Given the description of an element on the screen output the (x, y) to click on. 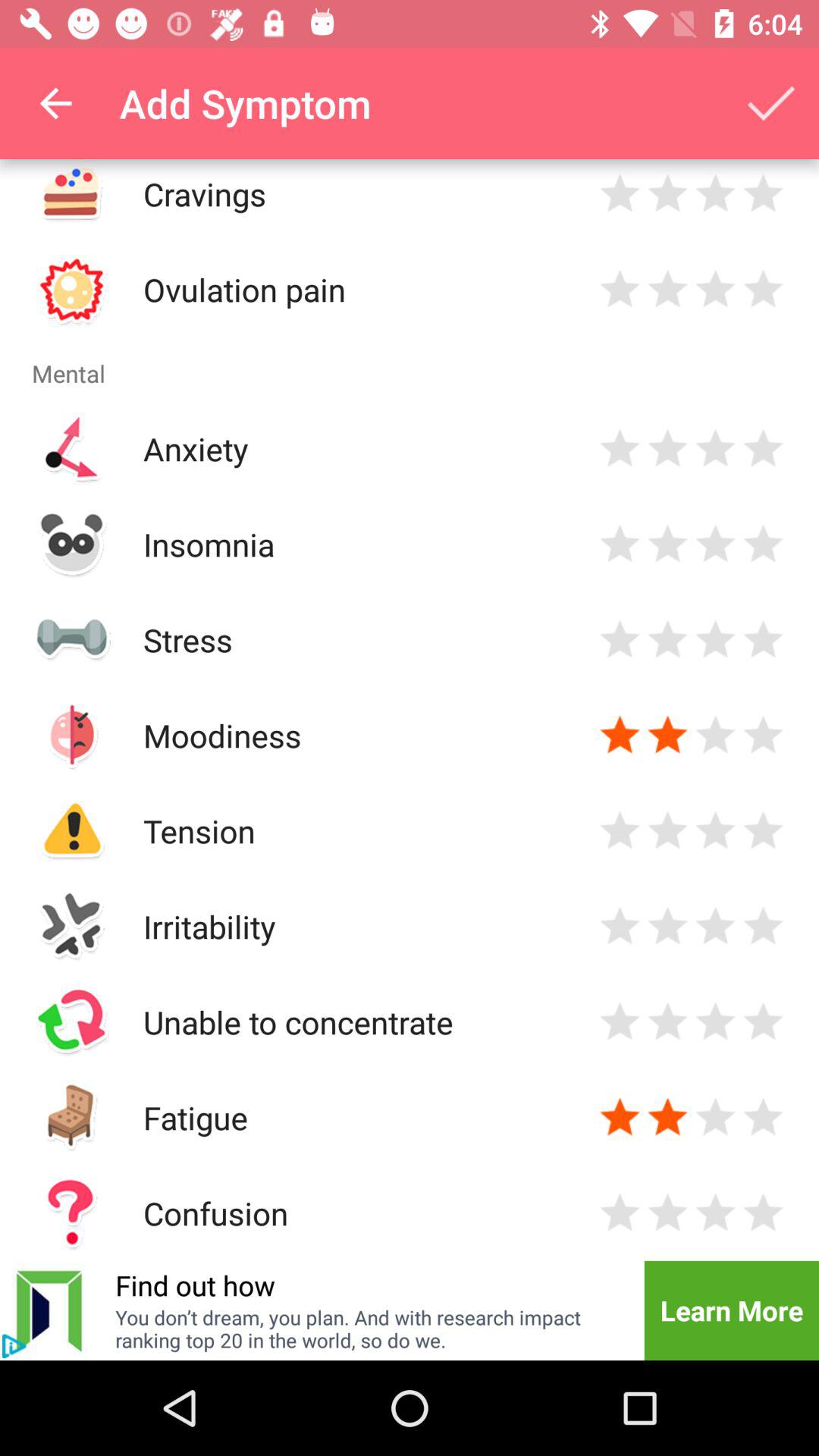
rate stress level (667, 639)
